Given the description of an element on the screen output the (x, y) to click on. 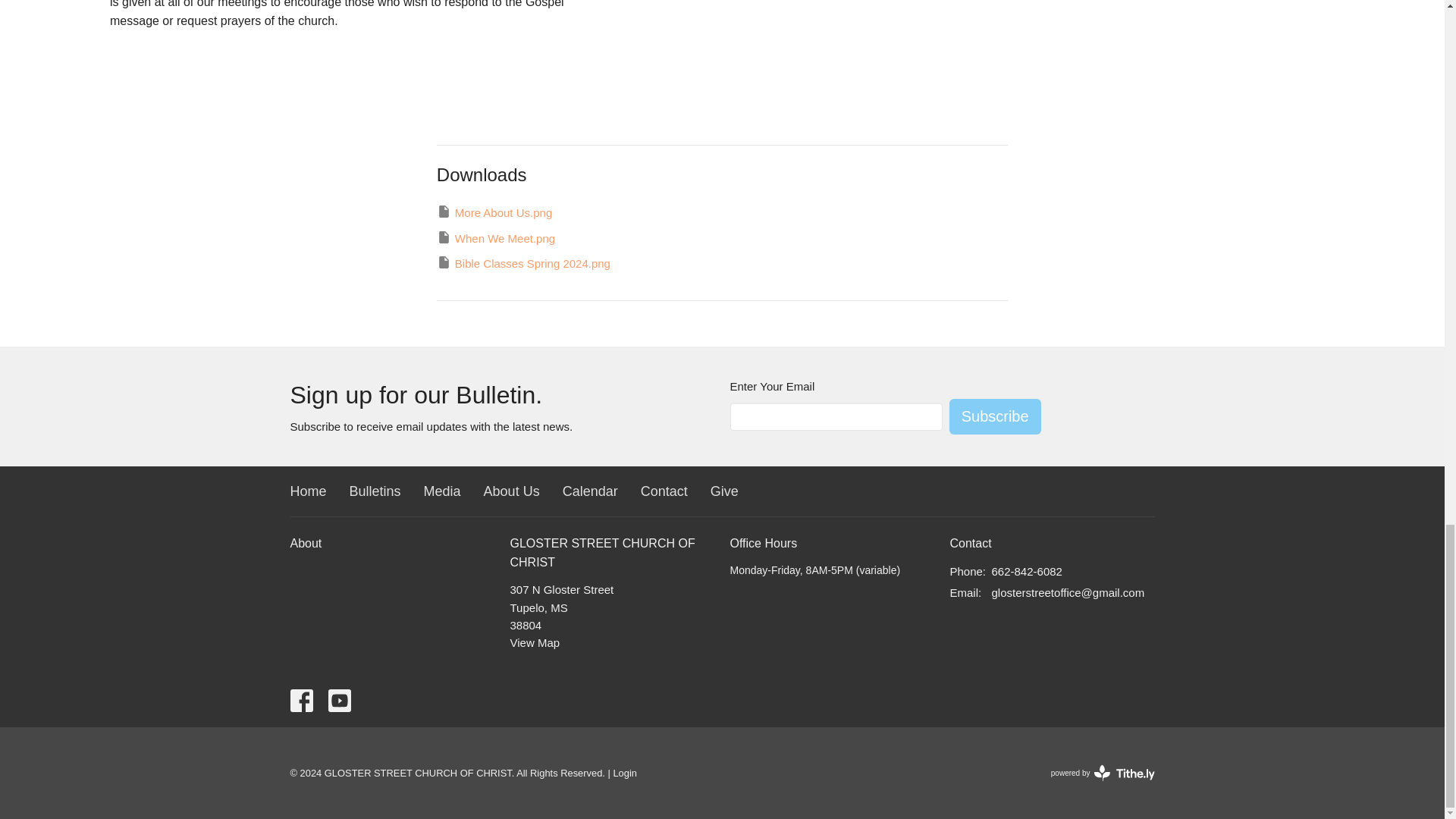
Login (624, 772)
translation missing: en.ui.email (963, 592)
Calendar (589, 491)
662-842-6082 (1026, 570)
Subscribe (995, 416)
More About Us.png (493, 212)
Contact (663, 491)
Bible Classes Spring 2024.png (523, 262)
To download, right-click the file and select "Save link as". (495, 238)
When We Meet.png (495, 238)
Home (307, 491)
To download, right-click the file and select "Save link as". (493, 212)
View Map (534, 642)
To download, right-click the file and select "Save link as". (523, 262)
